Given the description of an element on the screen output the (x, y) to click on. 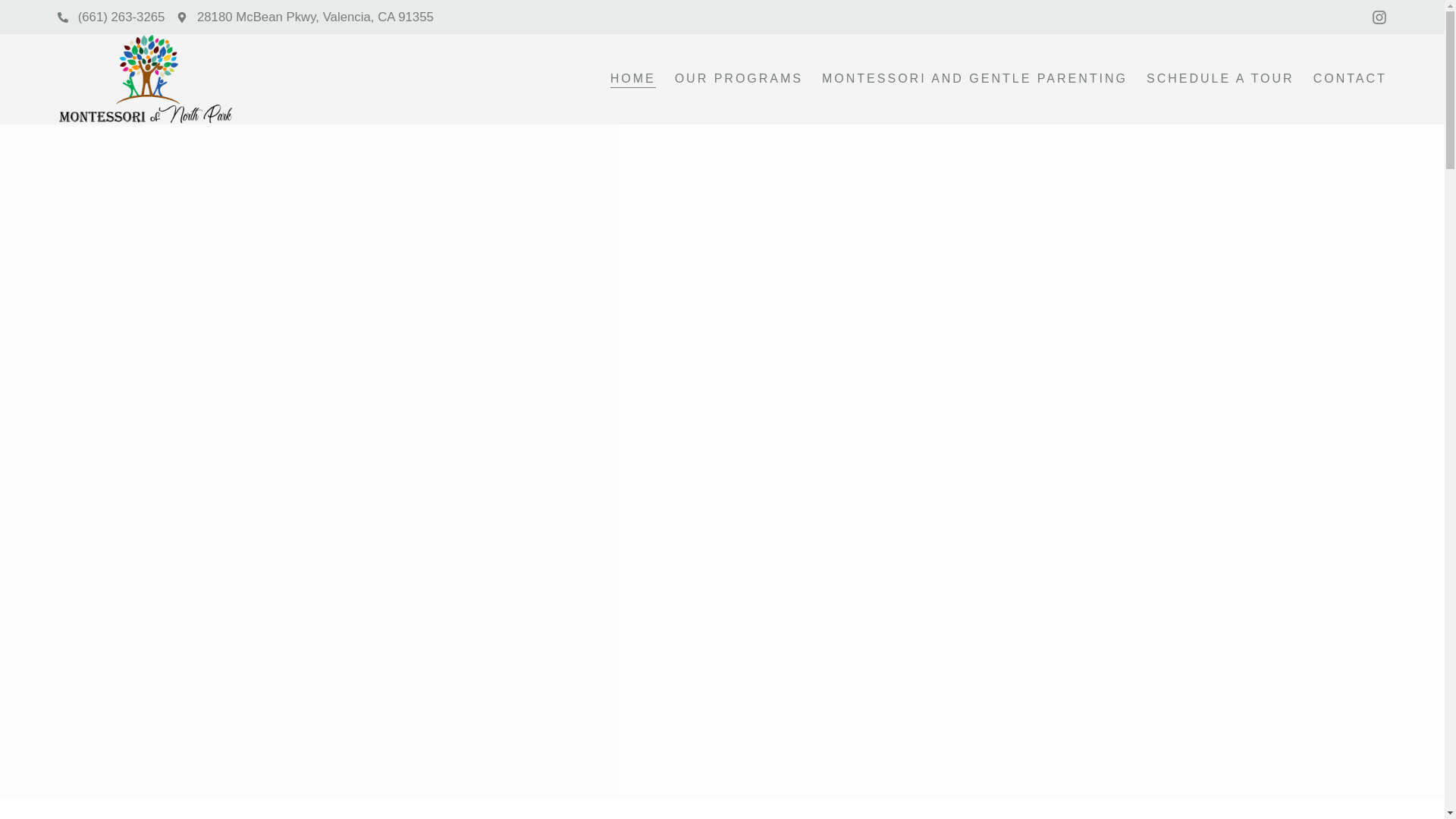
28180 McBean Pkwy, Valencia, CA 91355 (304, 17)
CONTACT (1350, 78)
HOME (633, 78)
MONTESSORI AND GENTLE PARENTING (974, 78)
OUR PROGRAMS (739, 78)
SCHEDULE A TOUR (1220, 78)
